Given the description of an element on the screen output the (x, y) to click on. 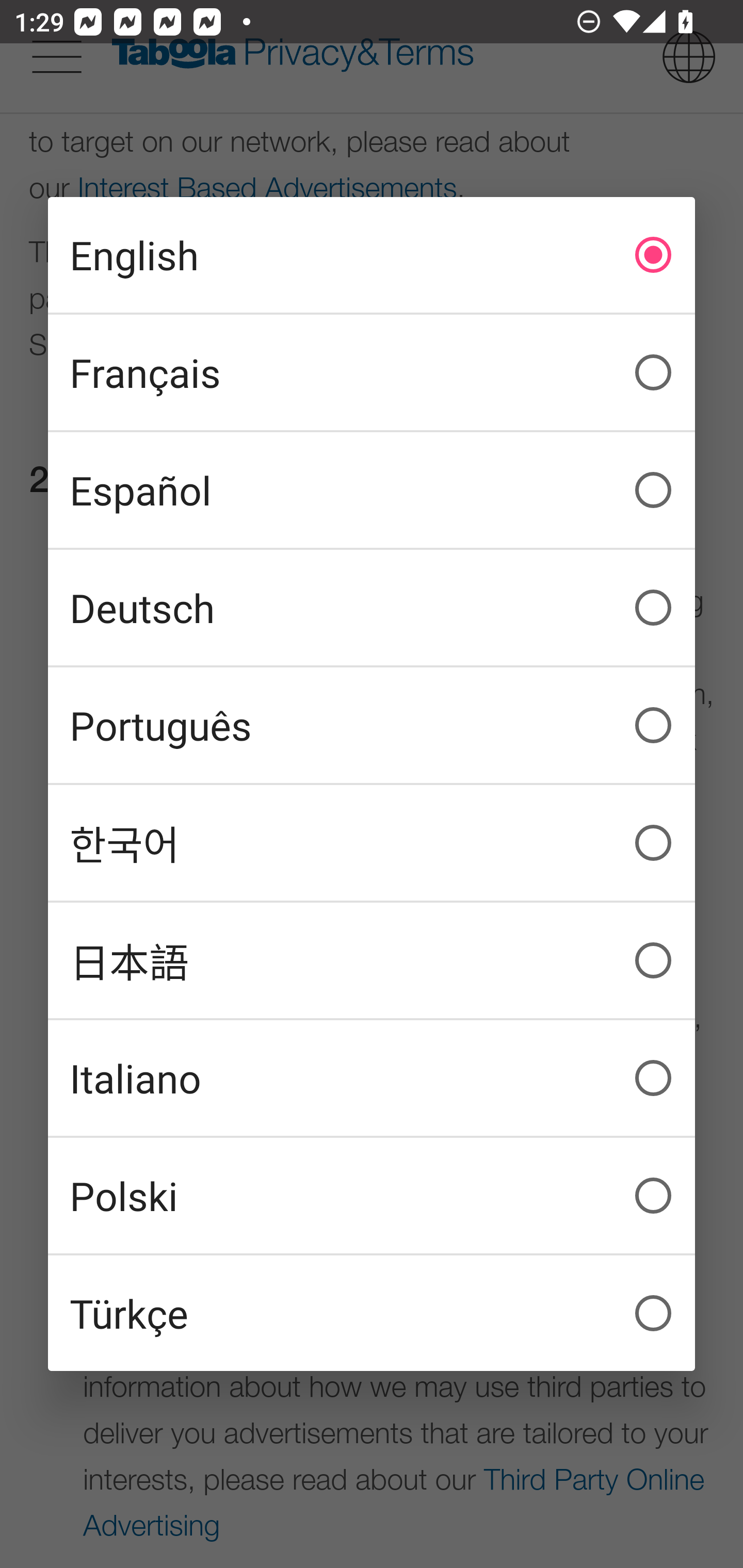
English (371, 254)
Français (371, 372)
Español (371, 489)
Deutsch (371, 607)
Português (371, 724)
한국어 (371, 842)
日本語 (371, 960)
Italiano (371, 1077)
Polski (371, 1195)
Türkçe (371, 1312)
